Given the description of an element on the screen output the (x, y) to click on. 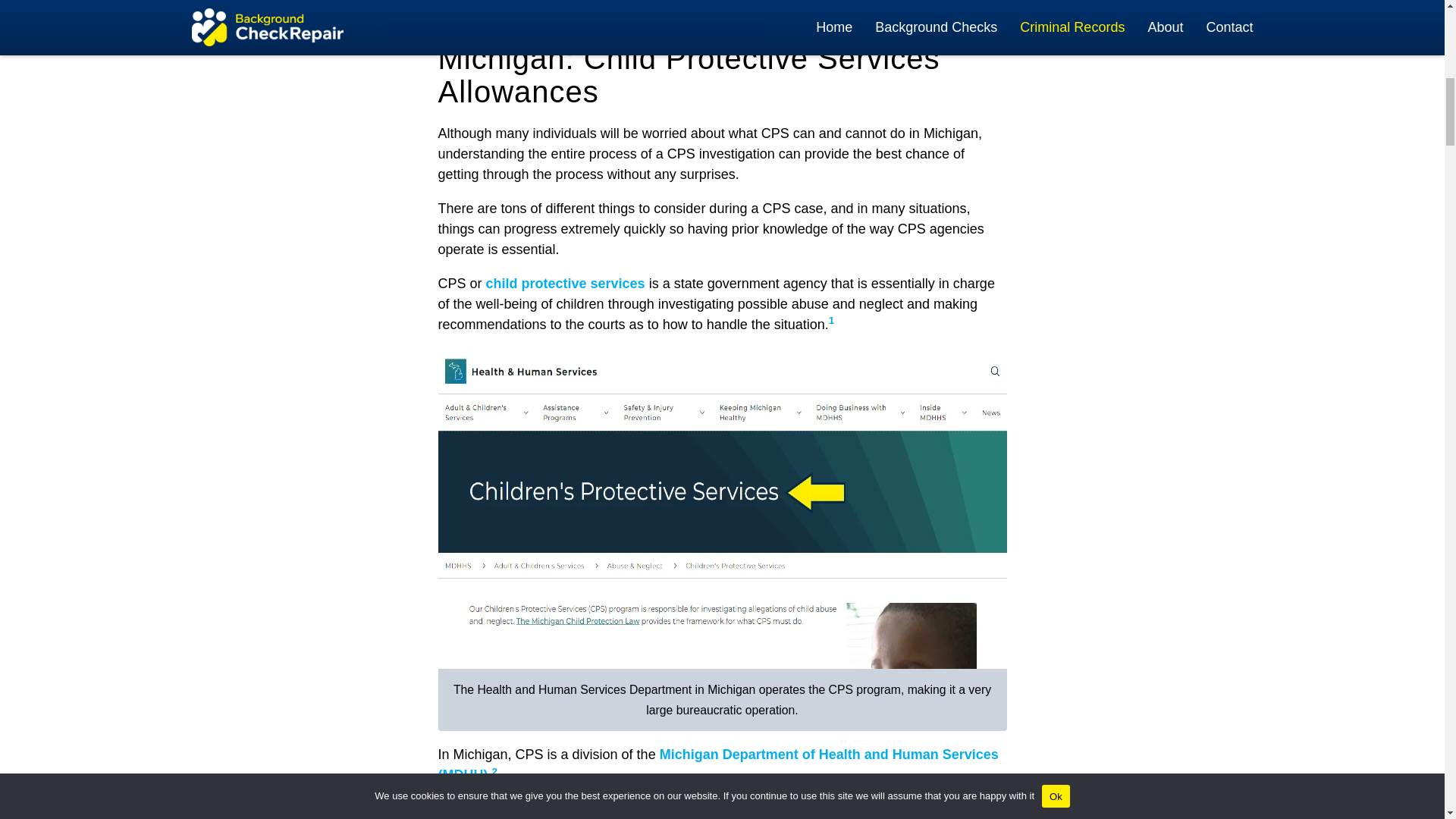
1 (831, 319)
2 (494, 771)
child protective services (565, 283)
